Given the description of an element on the screen output the (x, y) to click on. 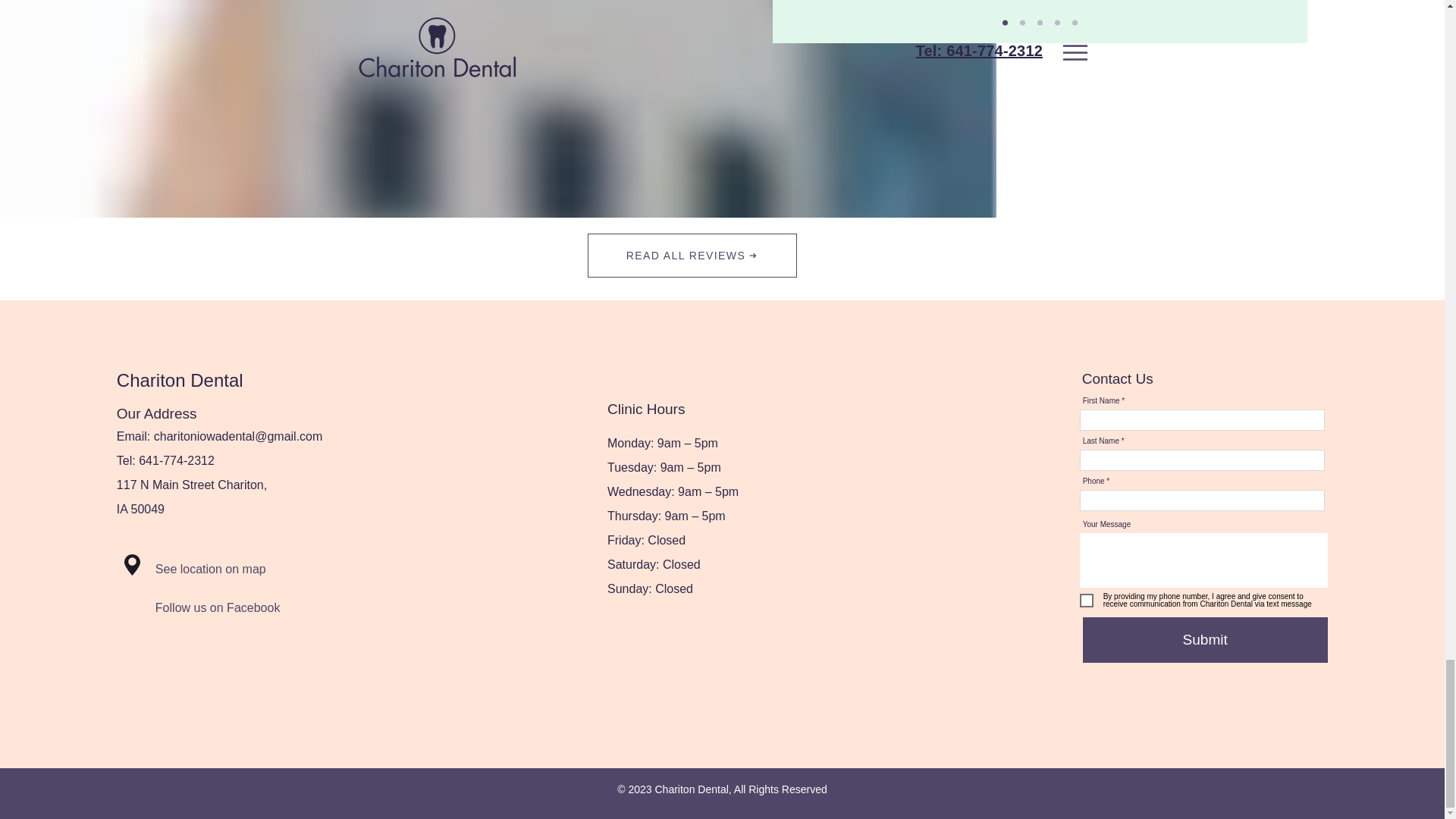
See location on map (234, 569)
Follow us on Facebook (241, 607)
Submit (1205, 639)
READ ALL REVIEWS (691, 255)
